Given the description of an element on the screen output the (x, y) to click on. 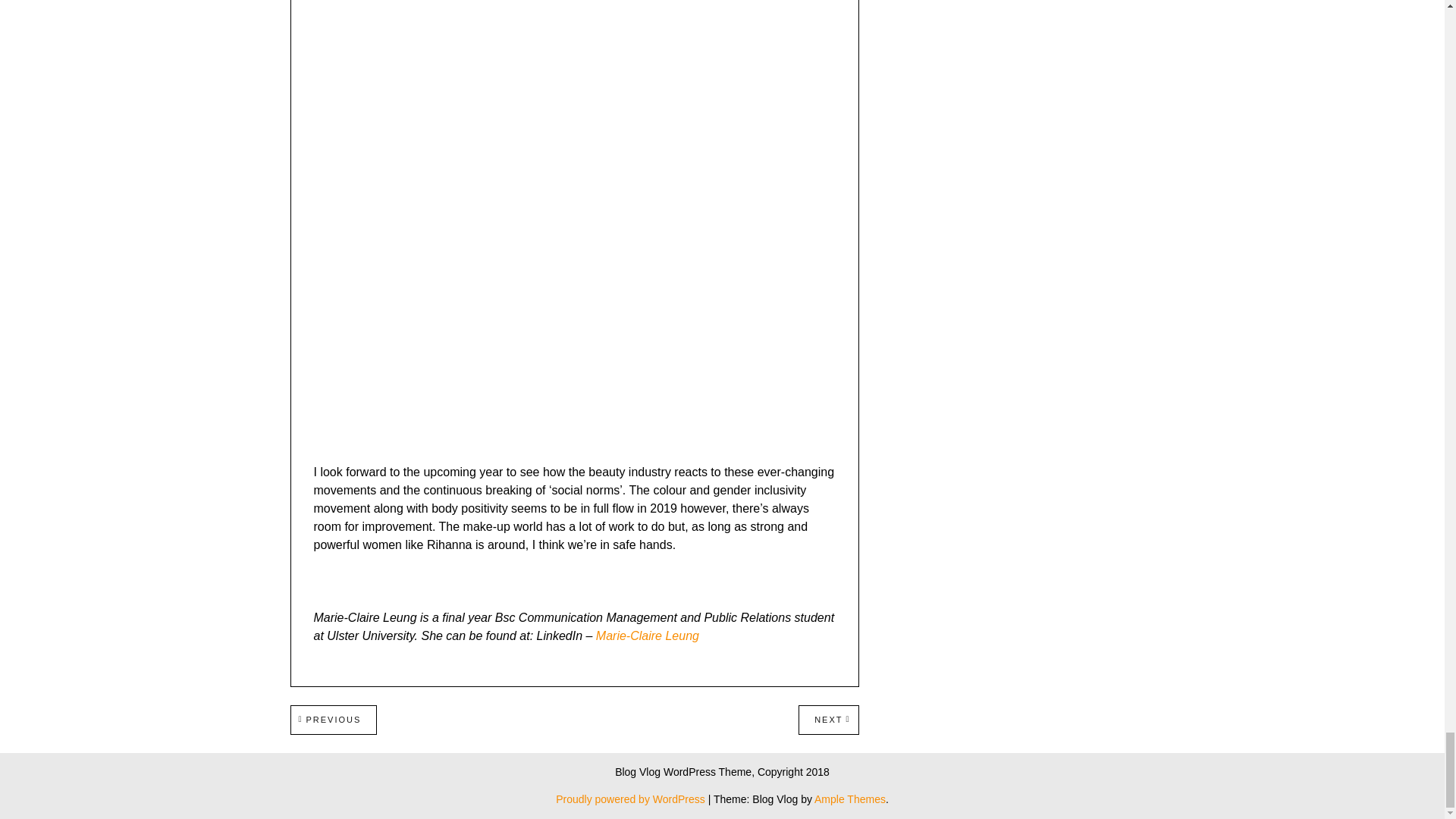
Marie-Claire Leung (333, 719)
